Given the description of an element on the screen output the (x, y) to click on. 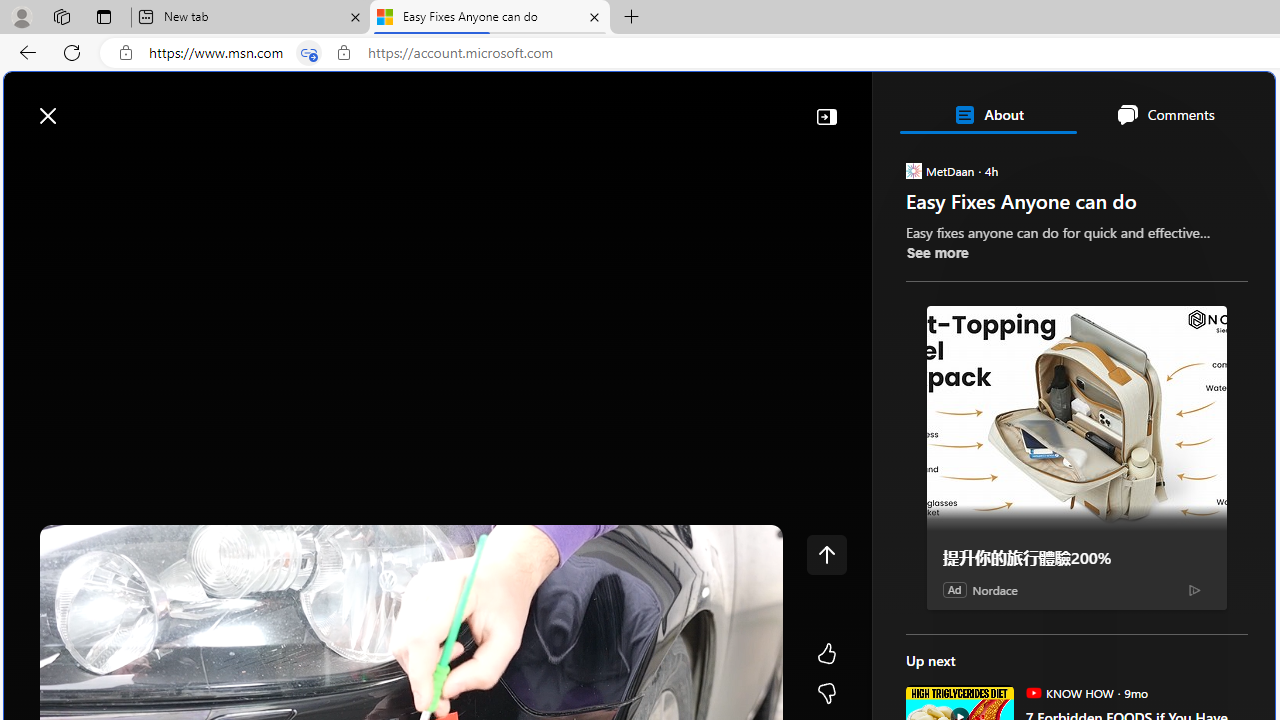
Class: button-glyph (29, 162)
MetDaan (912, 170)
Class: control icon-only (826, 554)
KNOW HOW (1033, 692)
